Given the description of an element on the screen output the (x, y) to click on. 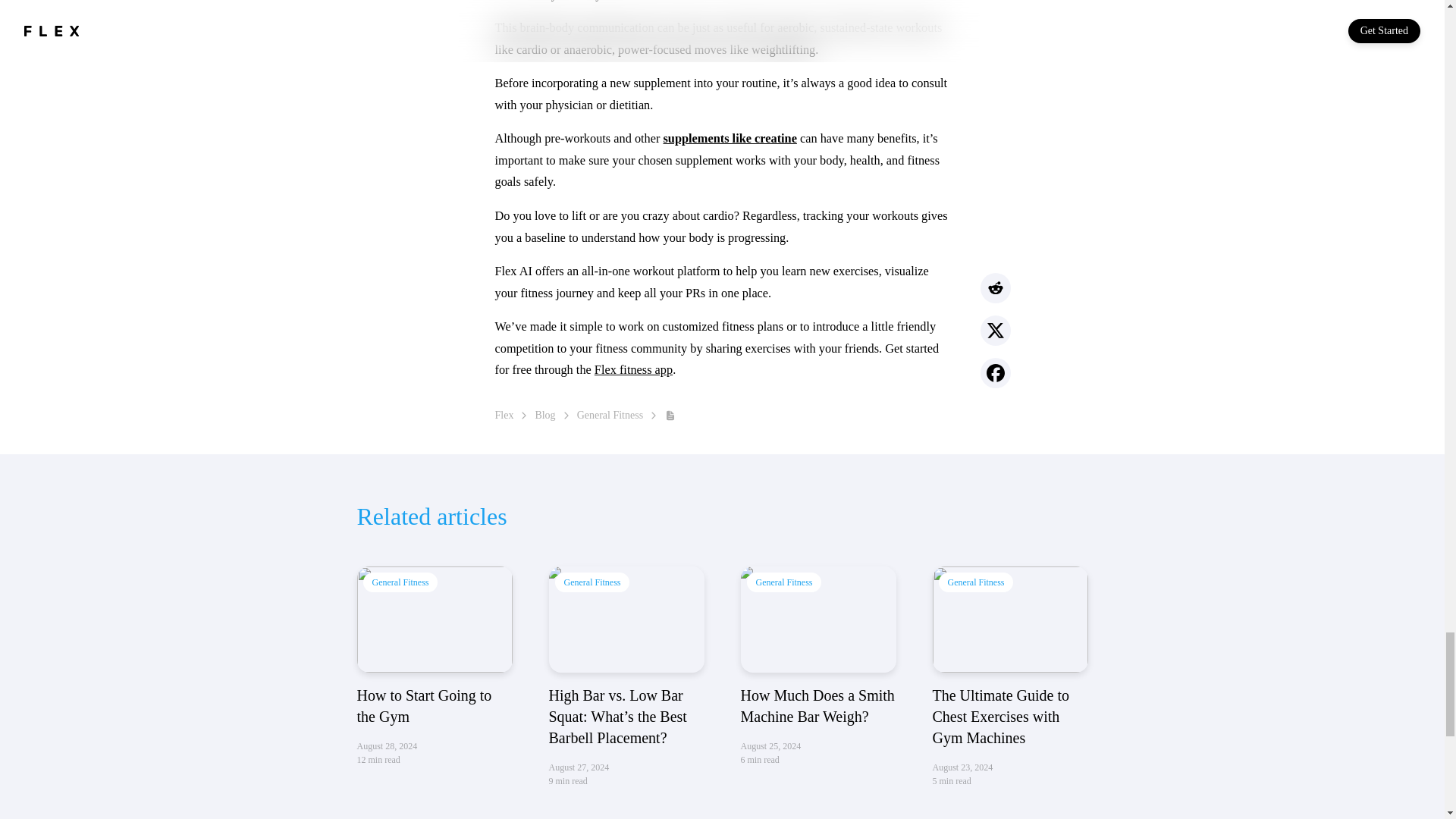
How to Start Going to the Gym (434, 619)
Blog (544, 414)
How to Start Going to the Gym (424, 705)
General Fitness (609, 414)
Flex (504, 414)
How Much Does a Smith Machine Bar Weigh? (817, 619)
Flex fitness app (633, 369)
supplements like creatine (729, 138)
The Ultimate Guide to Chest Exercises with Gym Machines (1010, 619)
